Given the description of an element on the screen output the (x, y) to click on. 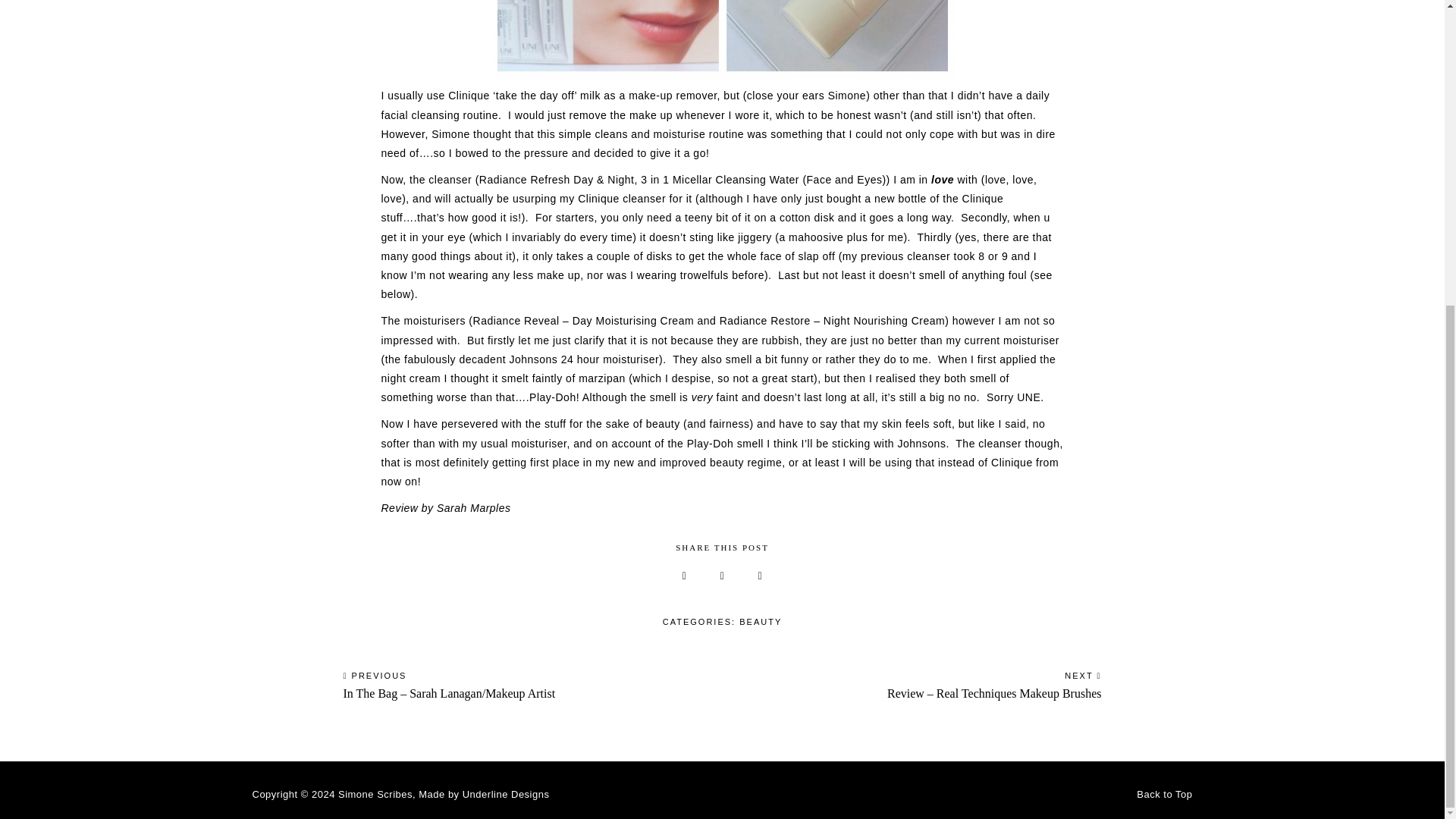
Underline Designs (506, 794)
Back to Top (1164, 794)
Simone Scribes (374, 794)
Underline Designs (506, 794)
Share on Facebook (759, 575)
Share on Pinterest (683, 575)
Share on Twitter (721, 575)
My blog pics (722, 39)
Simone Scribes (374, 794)
BEAUTY (760, 621)
